Given the description of an element on the screen output the (x, y) to click on. 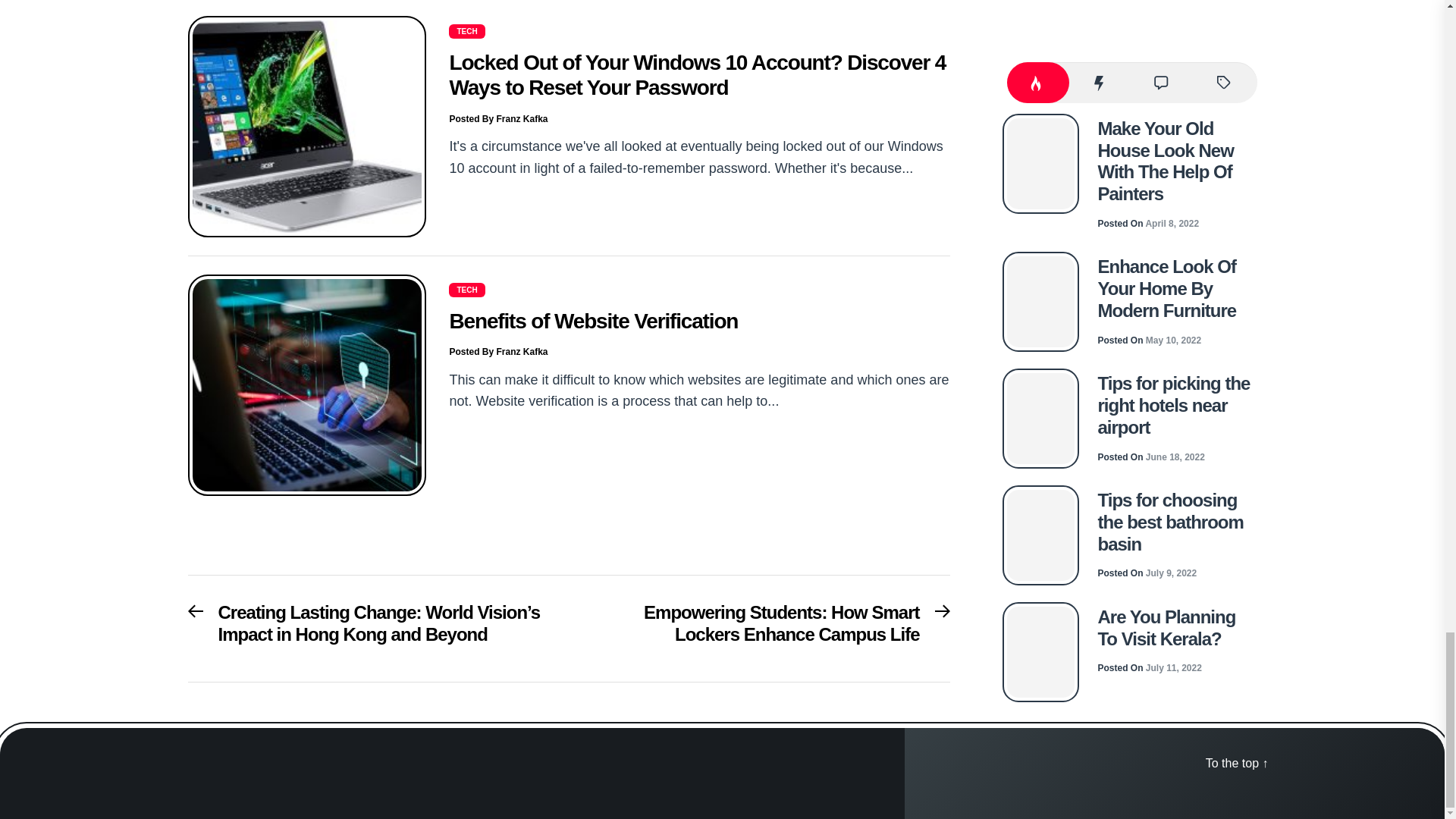
Empowering Students: How Smart Lockers Enhance Campus Life (766, 628)
Posted By Franz Kafka (497, 118)
Posted By Franz Kafka (497, 351)
TECH (466, 289)
Benefits of Website Verification (593, 320)
TECH (466, 30)
